Given the description of an element on the screen output the (x, y) to click on. 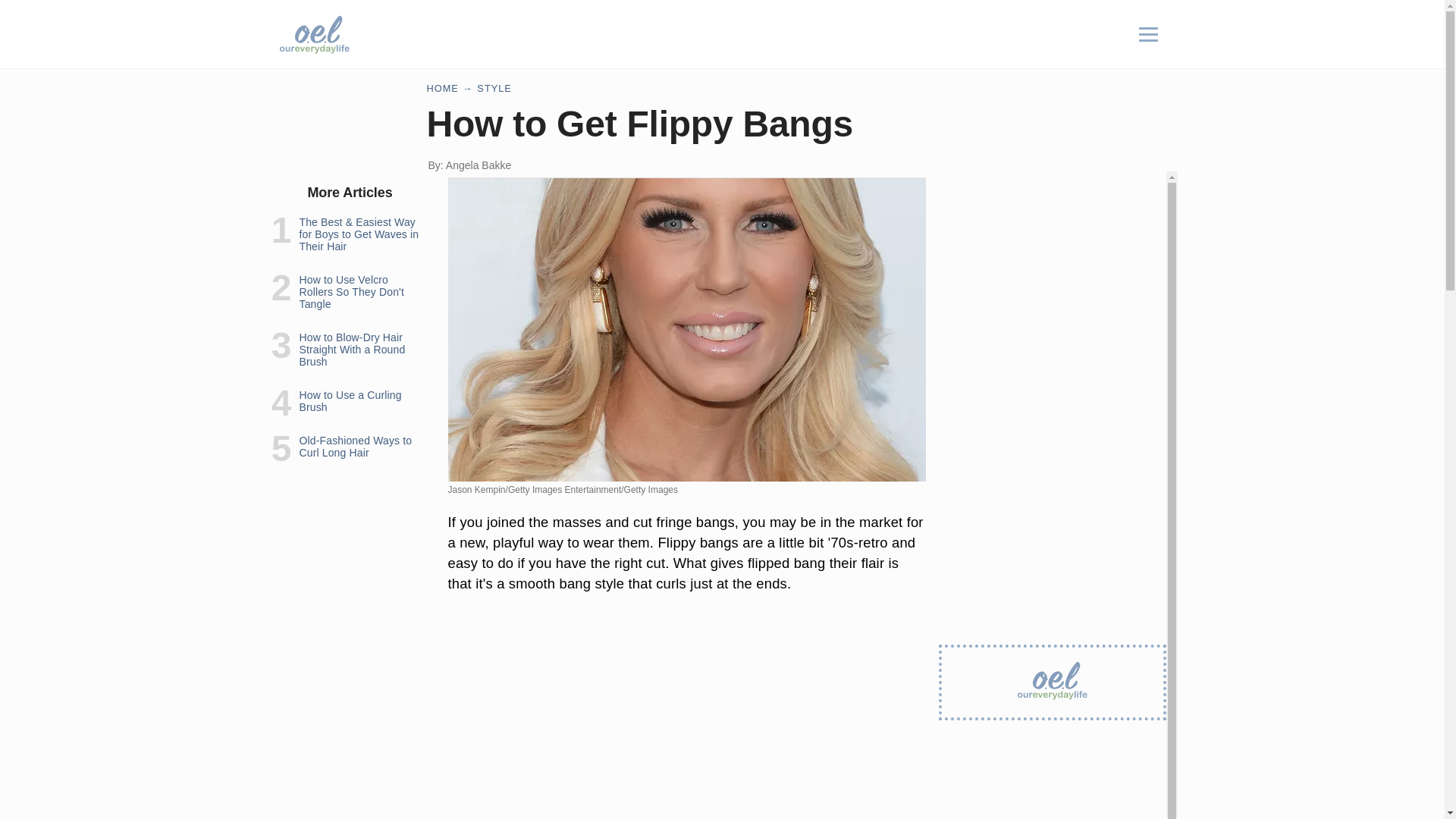
How to Blow-Dry Hair Straight With a Round Brush (351, 349)
Old-Fashioned Ways to Curl Long Hair (355, 446)
HOME (442, 88)
STYLE (494, 88)
How to Use a Curling Brush (349, 401)
How to Use Velcro Rollers So They Don't Tangle (350, 291)
Advertisement (686, 712)
